Given the description of an element on the screen output the (x, y) to click on. 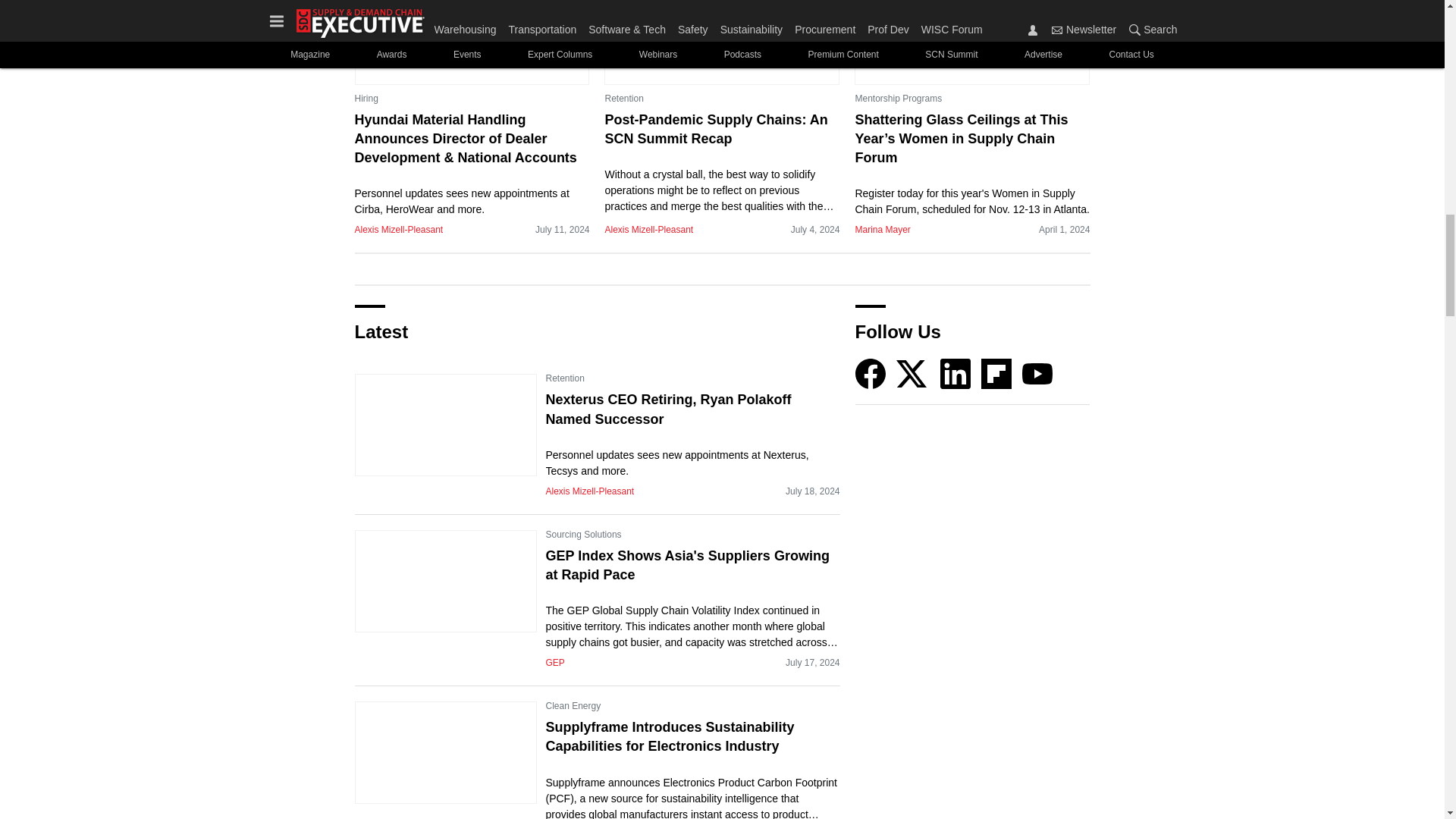
Flipboard icon (996, 373)
YouTube icon (1037, 373)
LinkedIn icon (955, 373)
Facebook icon (870, 373)
Twitter X icon (911, 373)
